Given the description of an element on the screen output the (x, y) to click on. 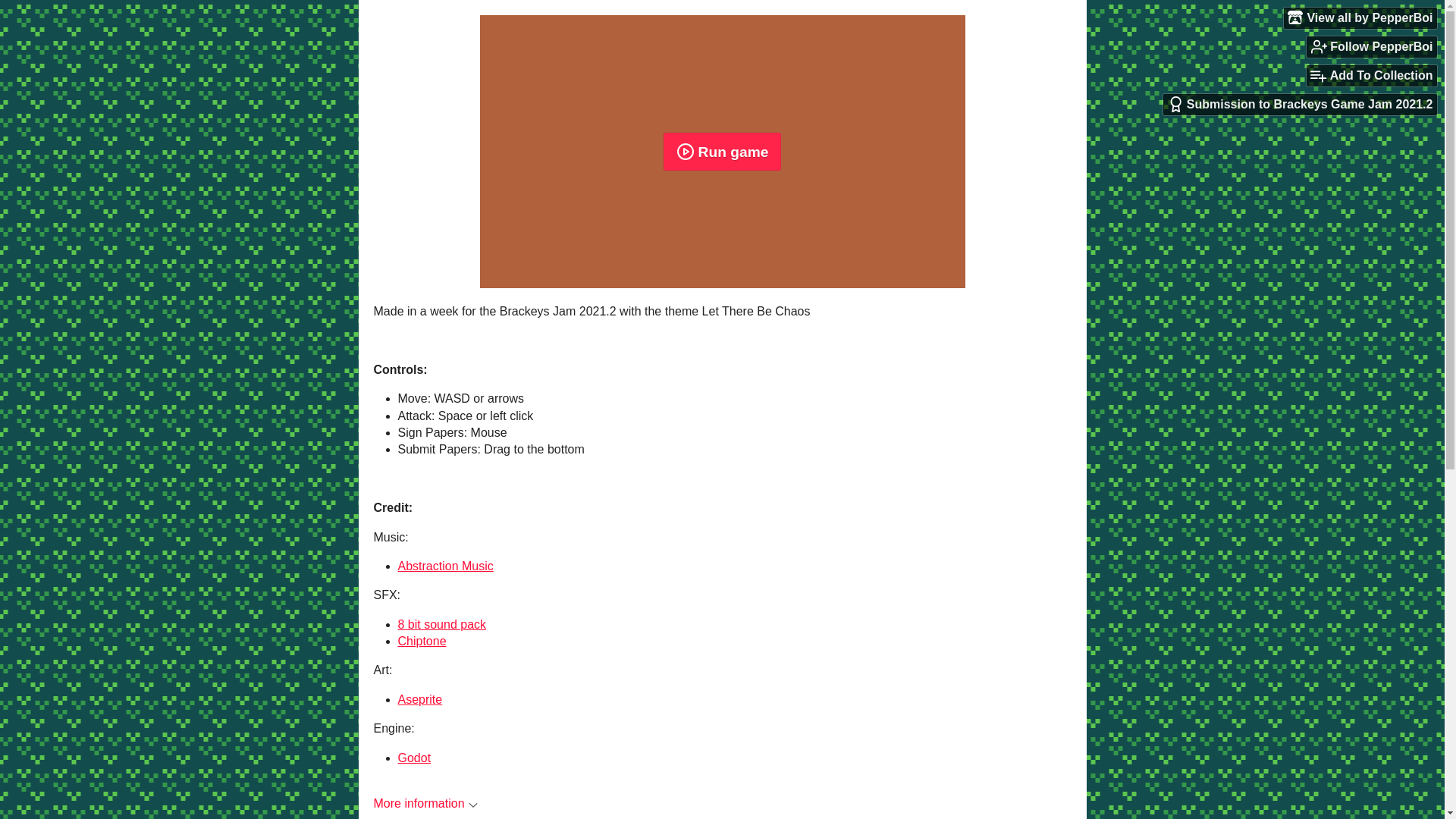
Follow PepperBoi (1371, 46)
Godot (413, 757)
Run game (721, 151)
More information (424, 802)
Aseprite (419, 698)
Add To Collection (1371, 75)
8 bit sound pack (441, 624)
Abstraction Music (445, 565)
Chiptone (421, 640)
Submission to Brackeys Game Jam 2021.2 (1300, 104)
View all by PepperBoi (1360, 17)
